Given the description of an element on the screen output the (x, y) to click on. 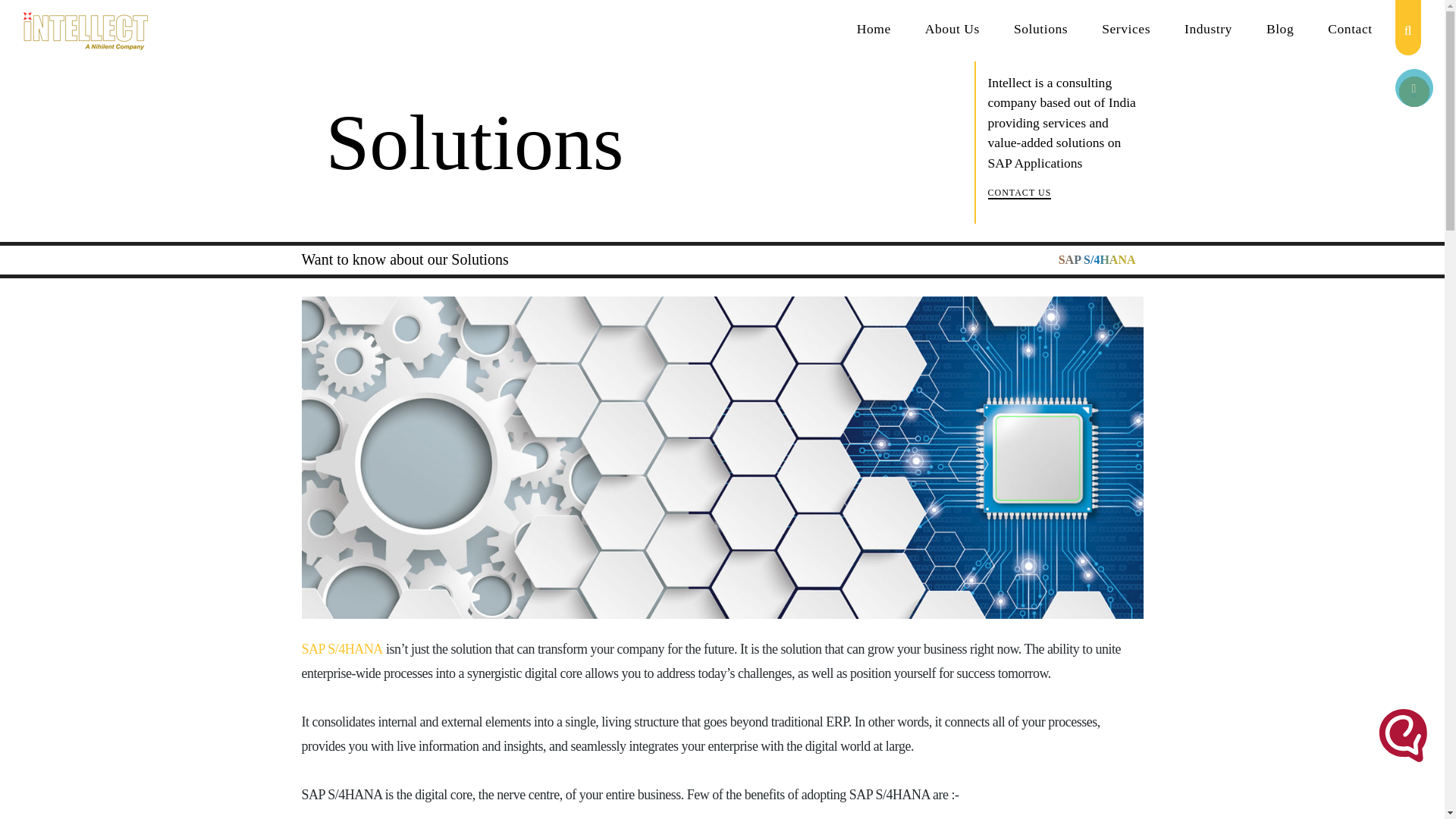
Comment (1413, 87)
Fullscreen (1414, 91)
